Given the description of an element on the screen output the (x, y) to click on. 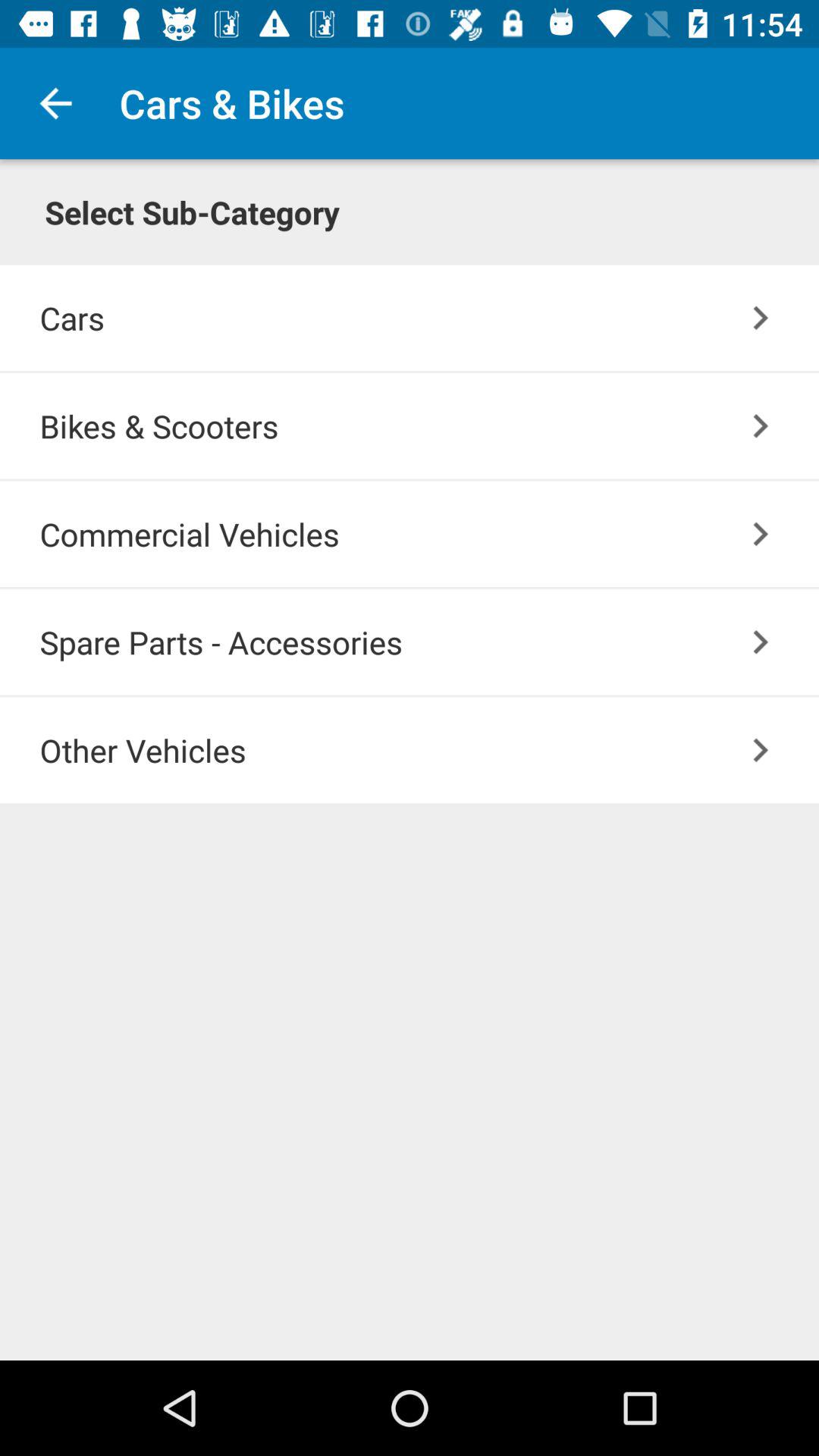
press the item to the left of cars & bikes icon (55, 103)
